Given the description of an element on the screen output the (x, y) to click on. 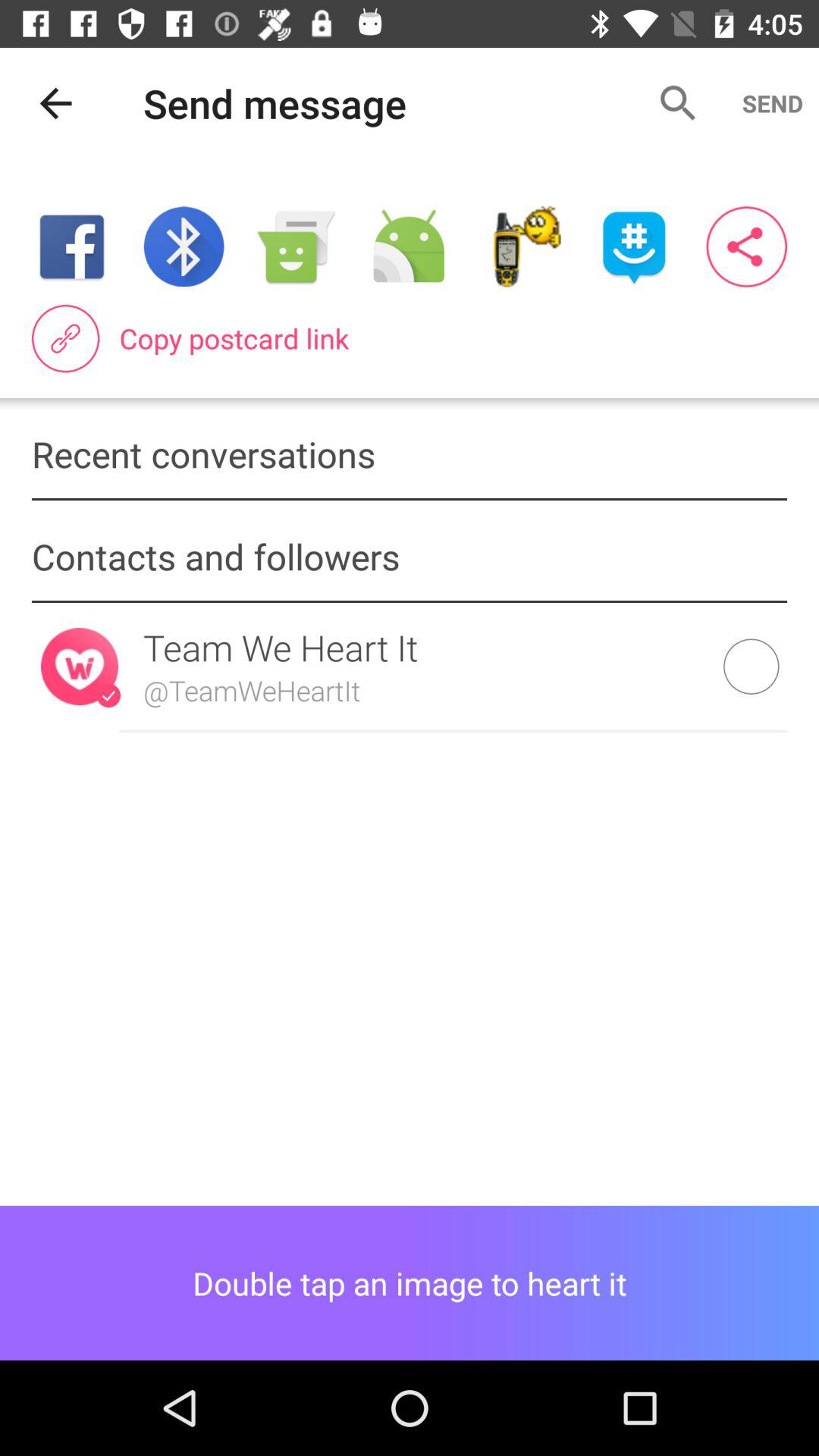
share the information (746, 246)
